Given the description of an element on the screen output the (x, y) to click on. 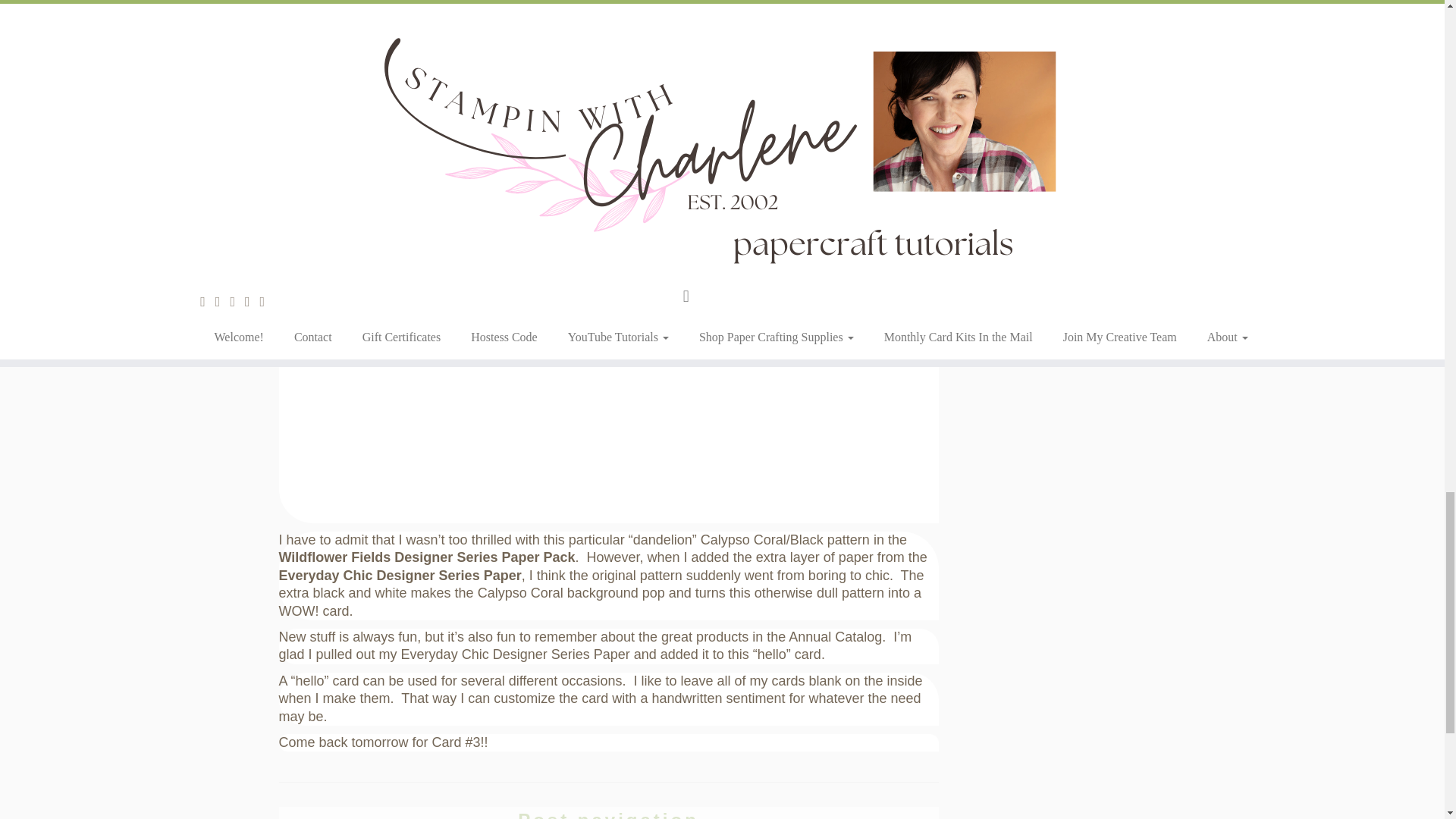
wildflower fields designer series paper from stampin up (461, 340)
